Given the description of an element on the screen output the (x, y) to click on. 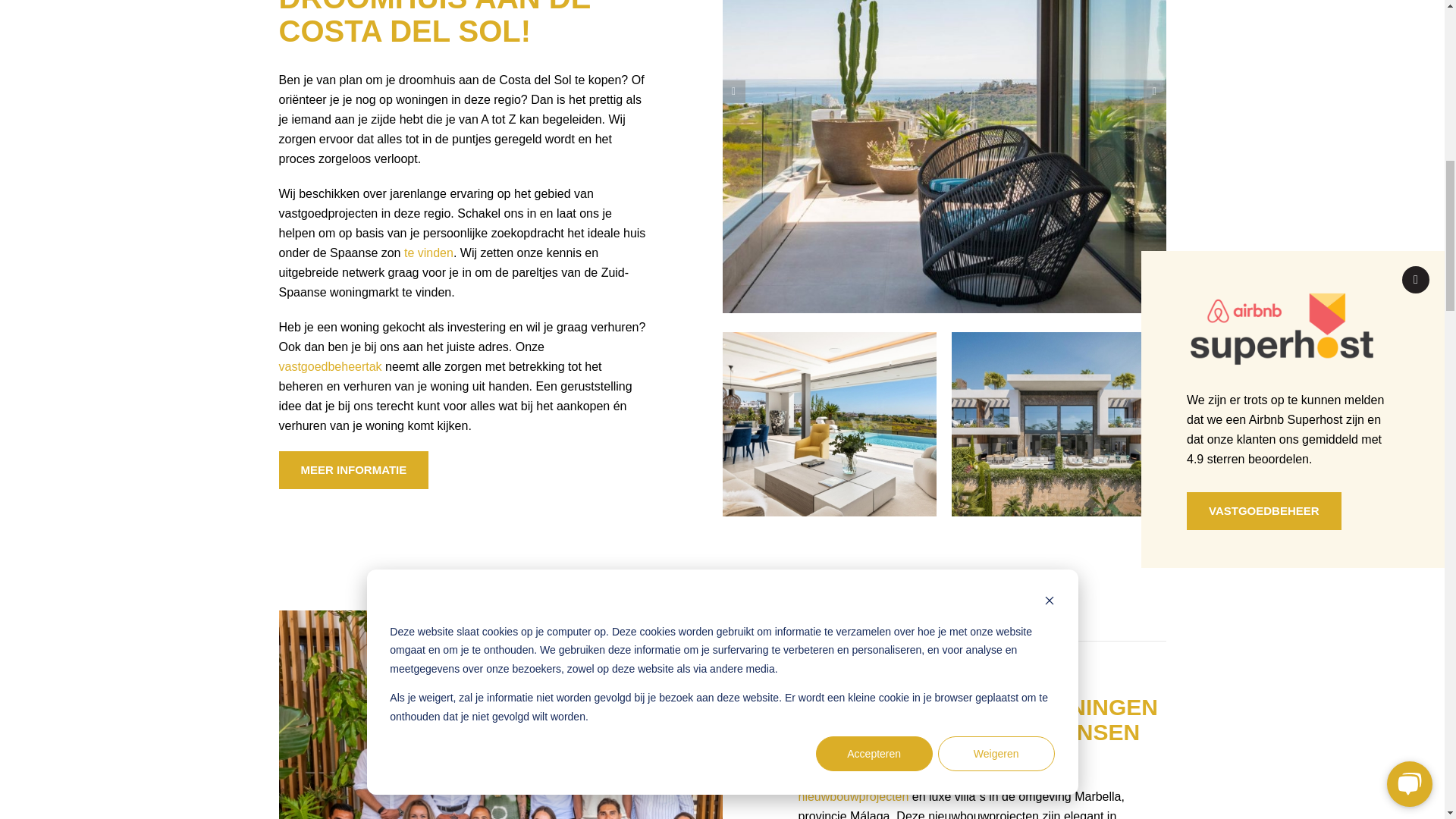
vastgoedbeheertak (330, 366)
te vinden (428, 252)
turnkeydelsol-slider-bg-2 (829, 337)
turnkeydelsol-slider-background-8 (1059, 337)
MEER INFORMATIE (354, 469)
